Given the description of an element on the screen output the (x, y) to click on. 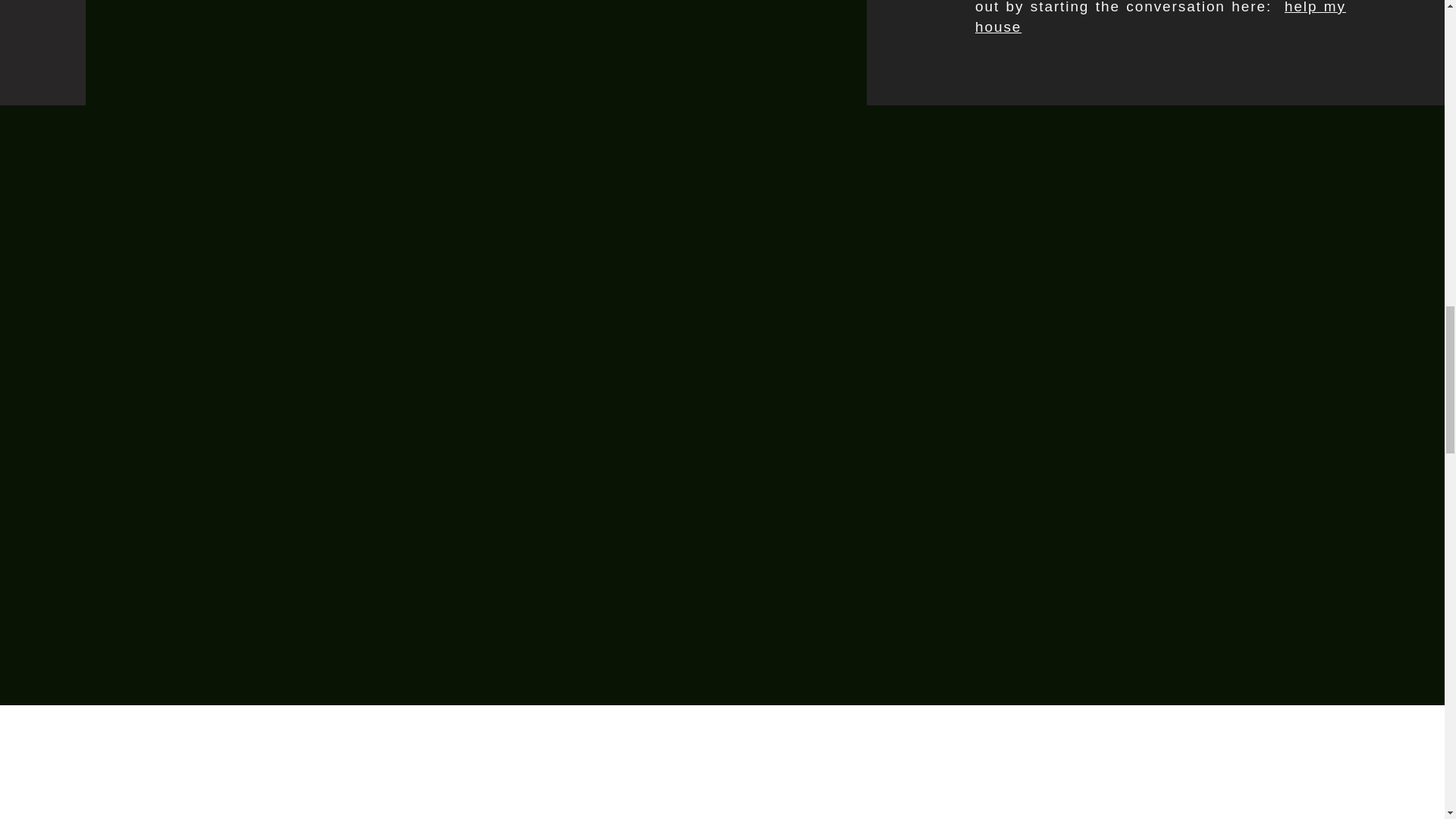
help my house (1160, 17)
